Given the description of an element on the screen output the (x, y) to click on. 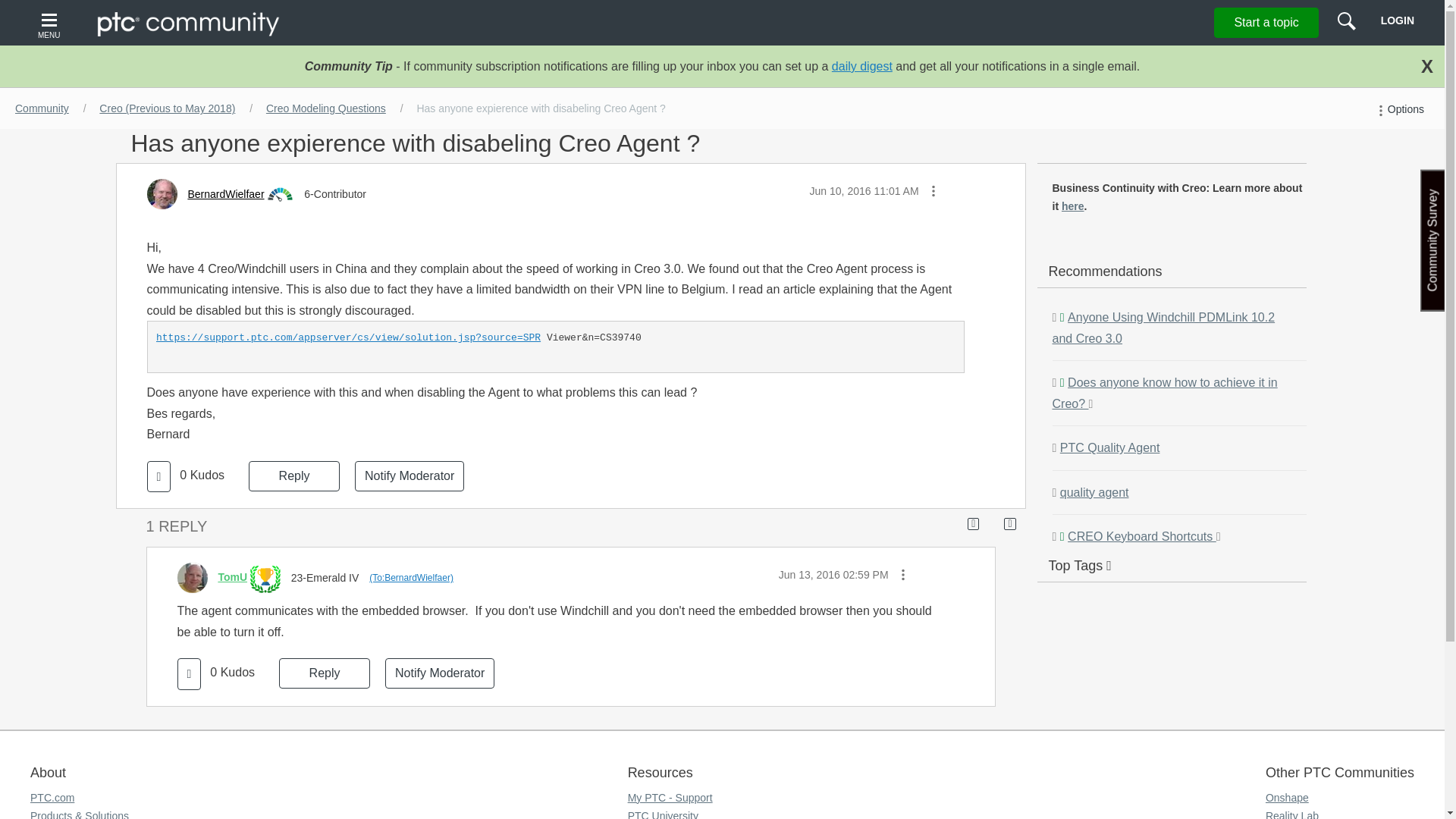
MENU (50, 22)
Creo Modeling Questions (326, 108)
LOGIN (1396, 20)
daily digest (861, 65)
Start a topic (1265, 22)
Community (42, 108)
Options (1398, 109)
